Given the description of an element on the screen output the (x, y) to click on. 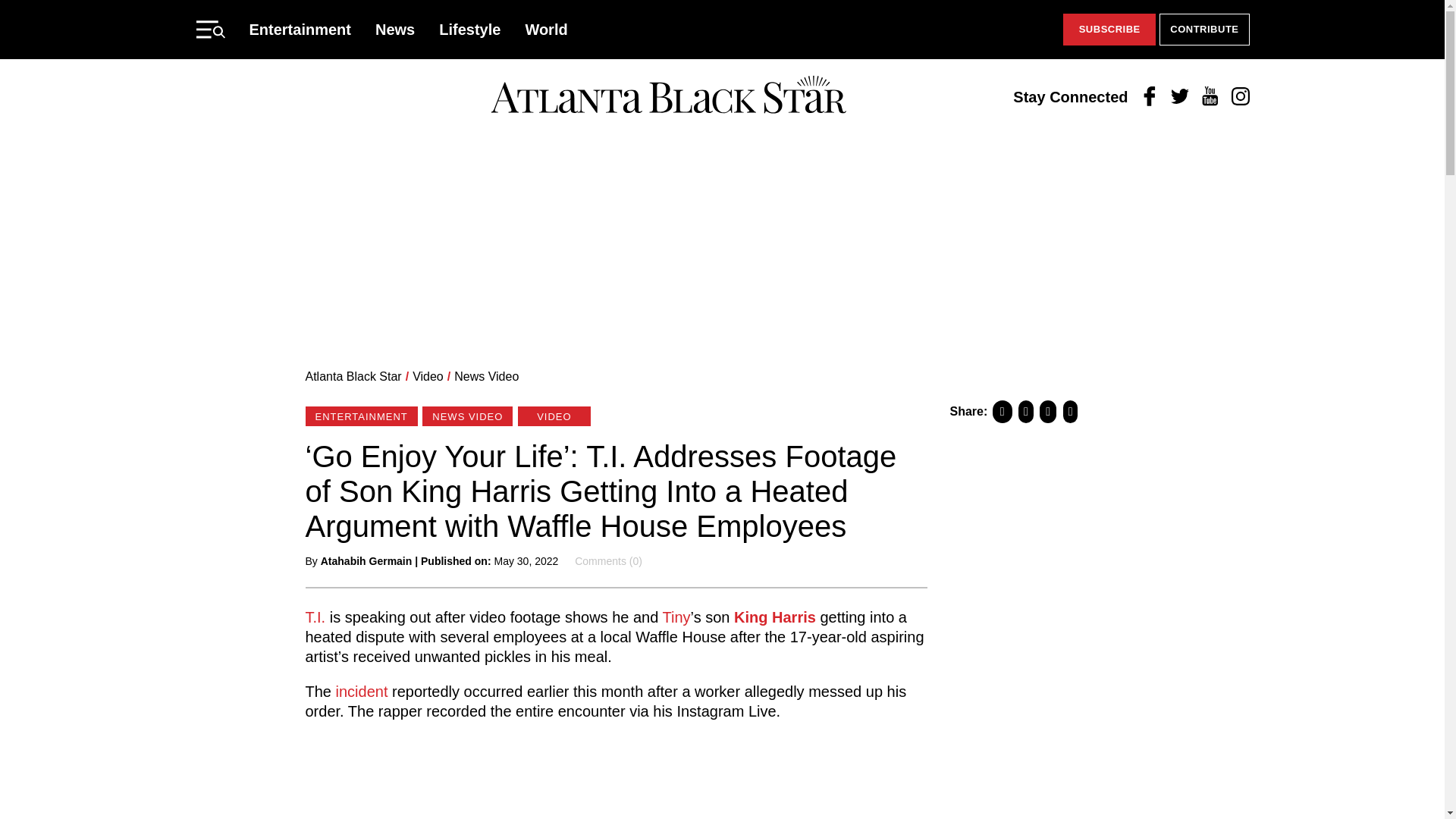
ENTERTAINMENT (360, 415)
SUBSCRIBE (1109, 29)
Video (428, 376)
World (545, 29)
Entertainment (299, 29)
News (394, 29)
Go to Atlanta Black Star. (352, 376)
NEWS VIDEO (467, 415)
Atlanta Black Star (352, 376)
Lifestyle (469, 29)
